Given the description of an element on the screen output the (x, y) to click on. 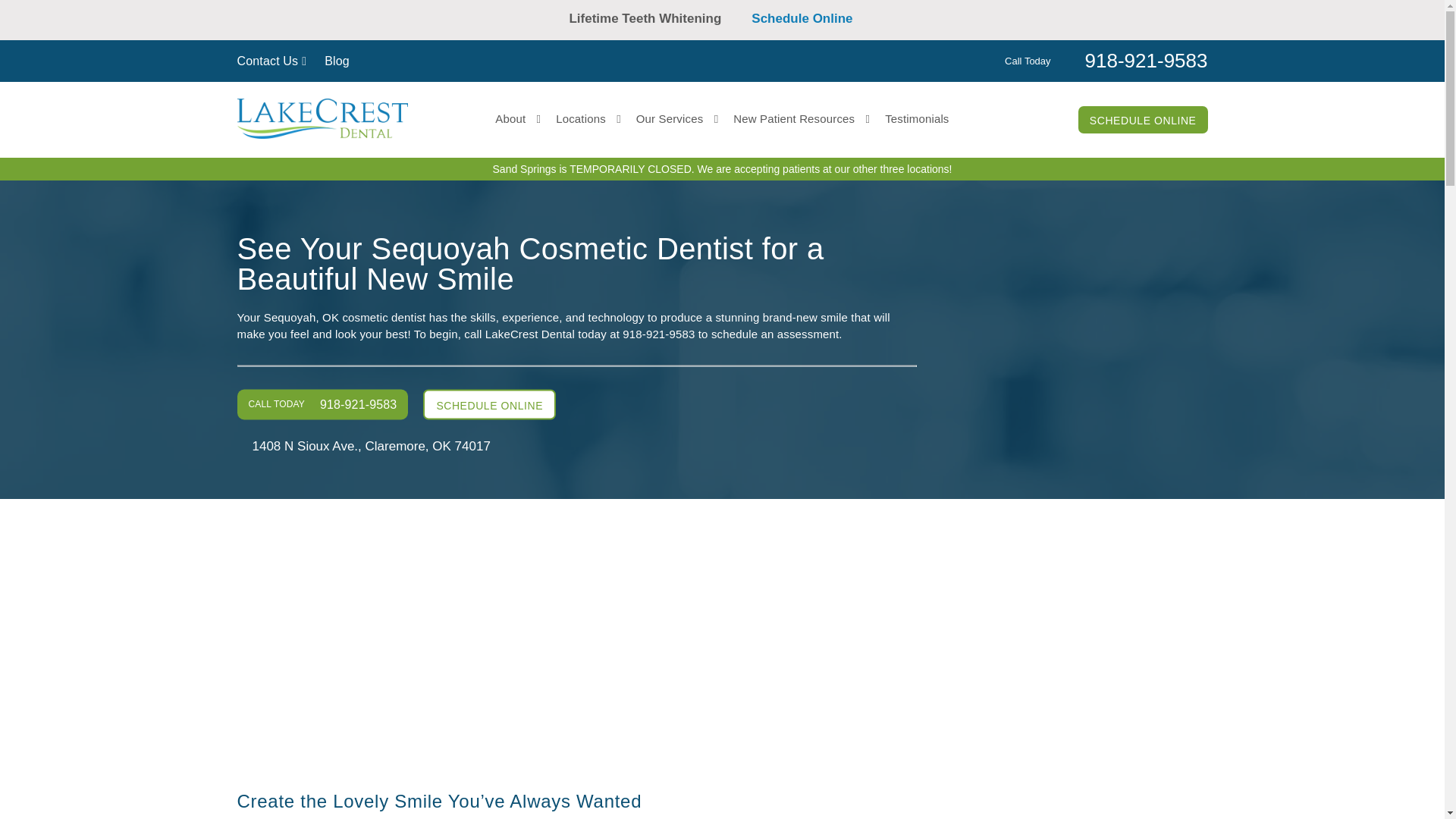
Contact Us (270, 60)
Our Services (677, 118)
Call Today918-921-9583 (1105, 59)
Locations (588, 118)
Schedule Online (813, 18)
Blog (336, 60)
About (517, 118)
Lifetime Teeth Whitening (652, 18)
